Given the description of an element on the screen output the (x, y) to click on. 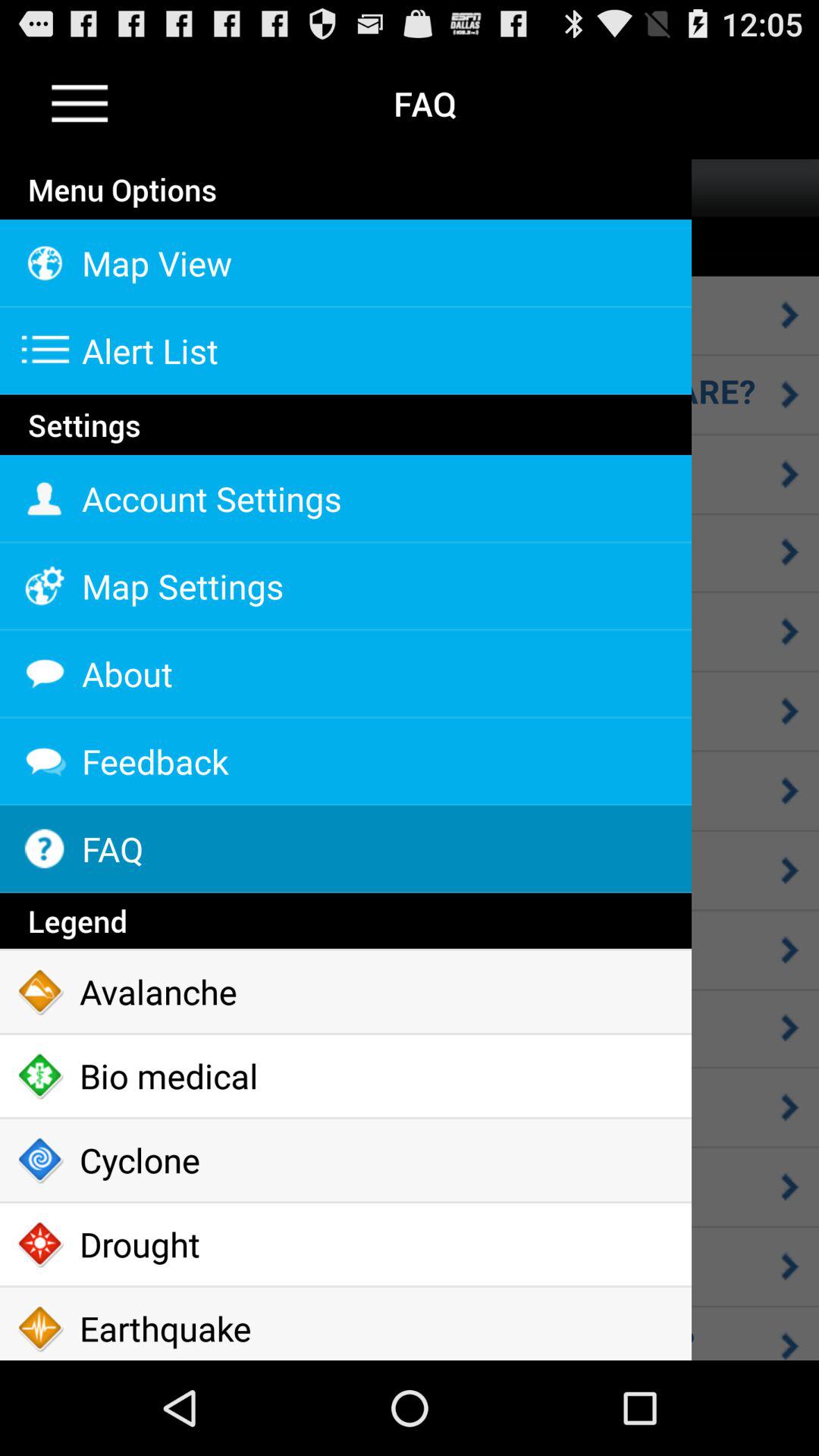
open icon above the avalanche item (345, 920)
